Given the description of an element on the screen output the (x, y) to click on. 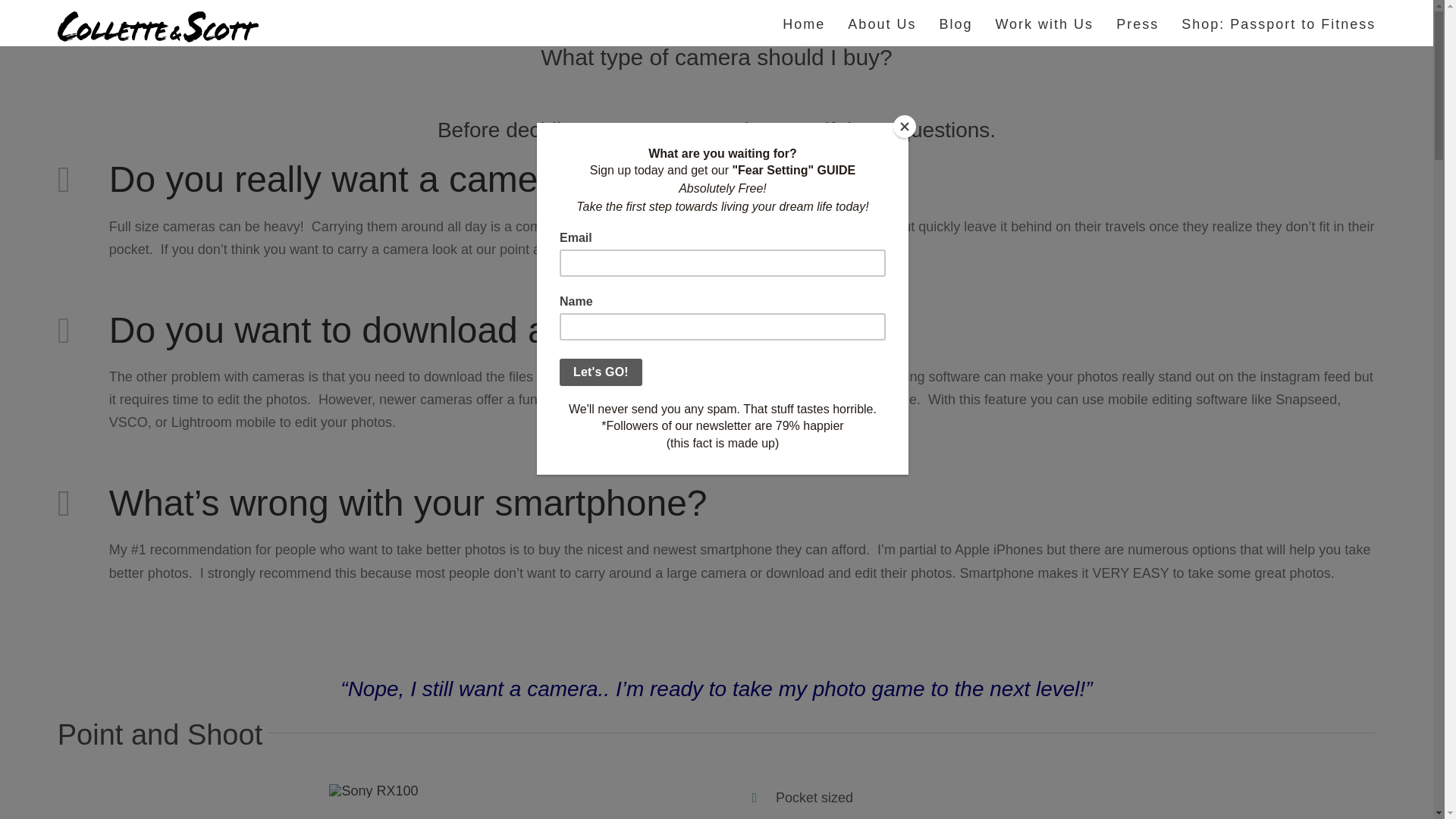
About Us (881, 22)
Work with Us (1043, 22)
Shop: Passport to Fitness (1277, 22)
Press (1137, 22)
Home (804, 22)
